Given the description of an element on the screen output the (x, y) to click on. 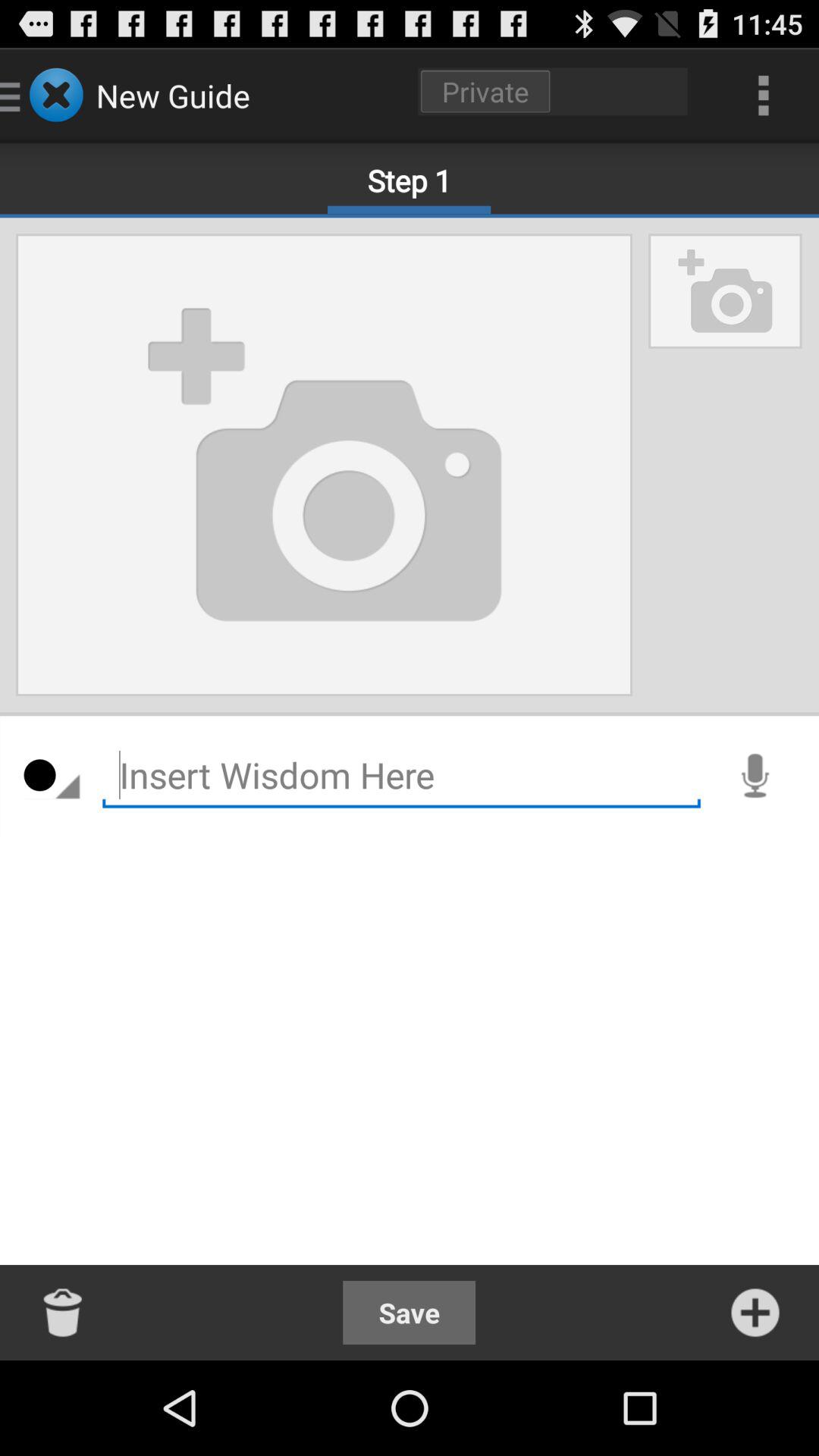
launch the item at the bottom (408, 1312)
